Given the description of an element on the screen output the (x, y) to click on. 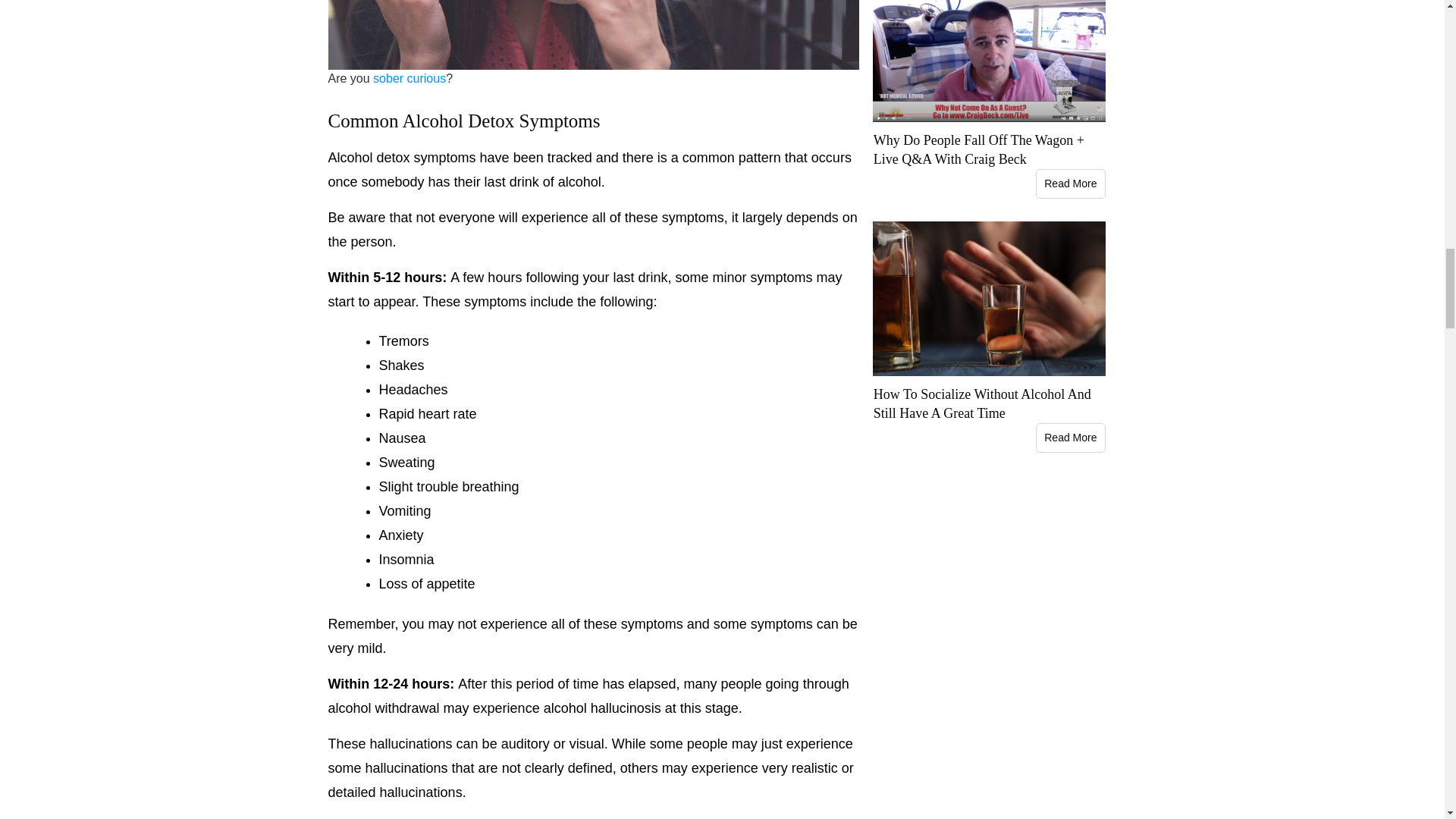
heart (434, 413)
Alcohol detox symptoms (401, 157)
sober curious (408, 78)
Alcohol And Sleep Problems Are Very Common And Predictable (405, 559)
Sober Curious Is Getting Seriously Big - Are You There Yet? (408, 78)
Insomnia (405, 559)
